Given the description of an element on the screen output the (x, y) to click on. 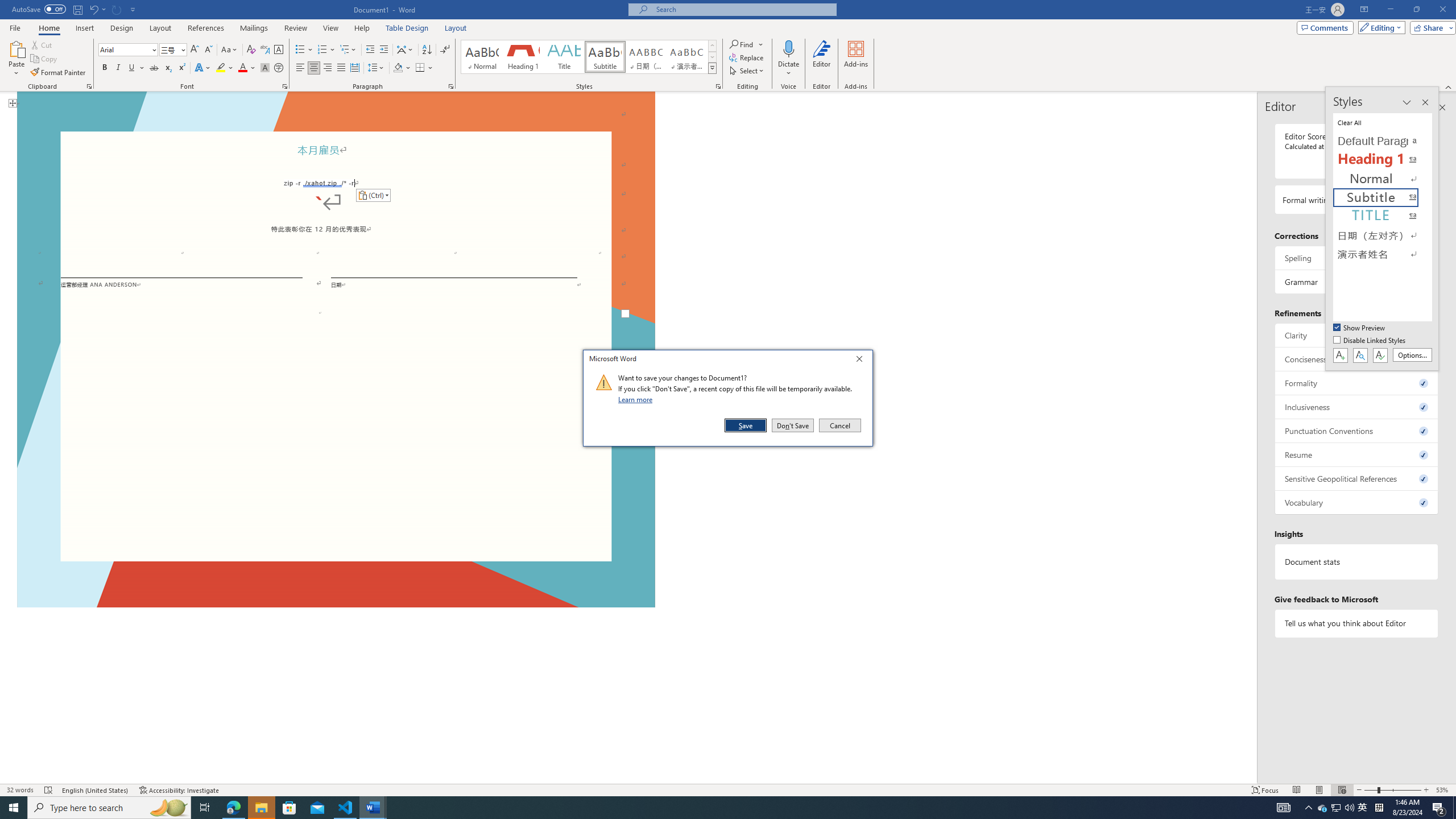
Vocabulary, 0 issues. Press space or enter to review items. (1356, 502)
